Given the description of an element on the screen output the (x, y) to click on. 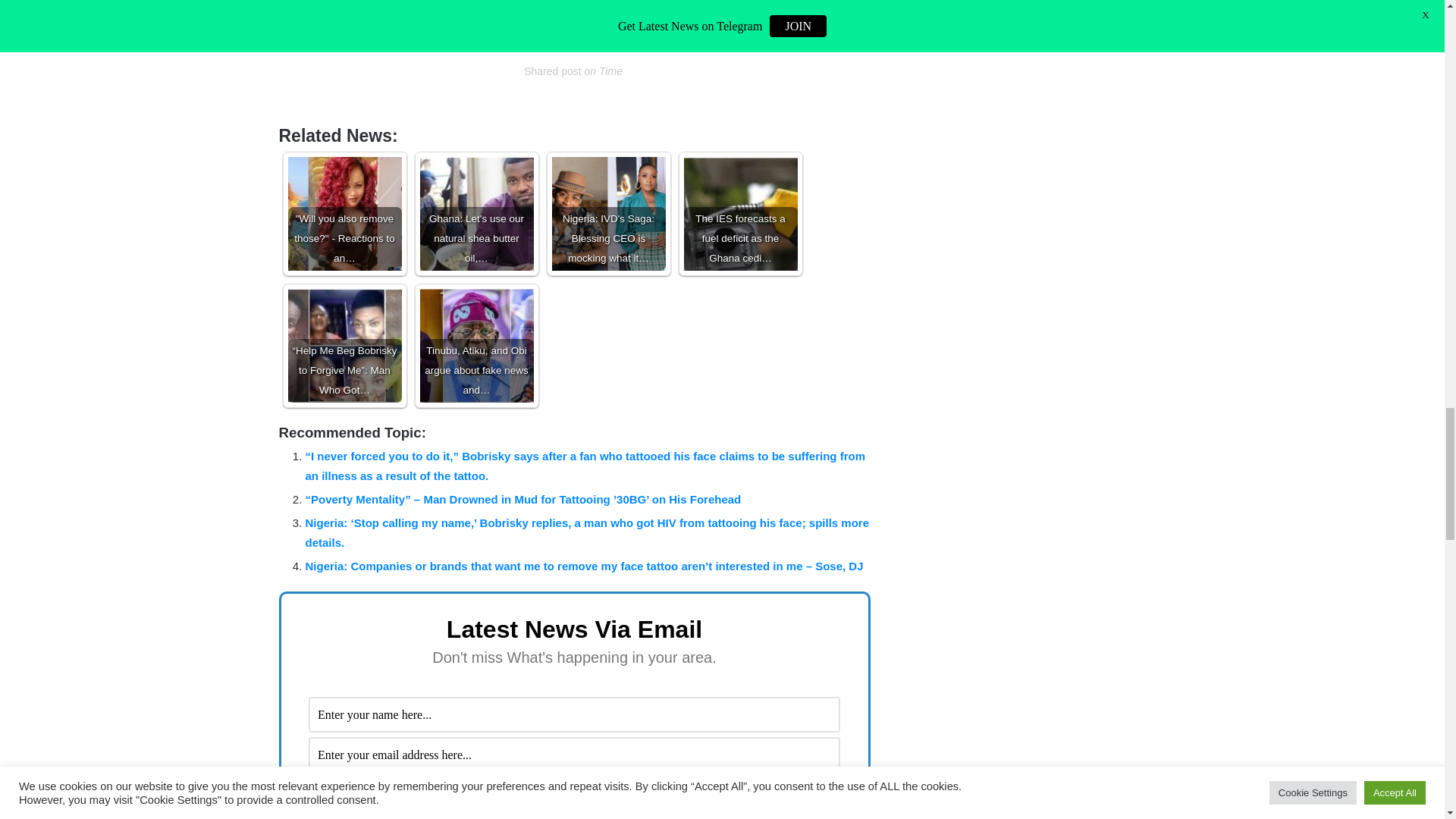
Subscribe Now (574, 794)
Subscribe Now (574, 794)
Shared post (552, 70)
View this post on Instagram (572, 20)
